Given the description of an element on the screen output the (x, y) to click on. 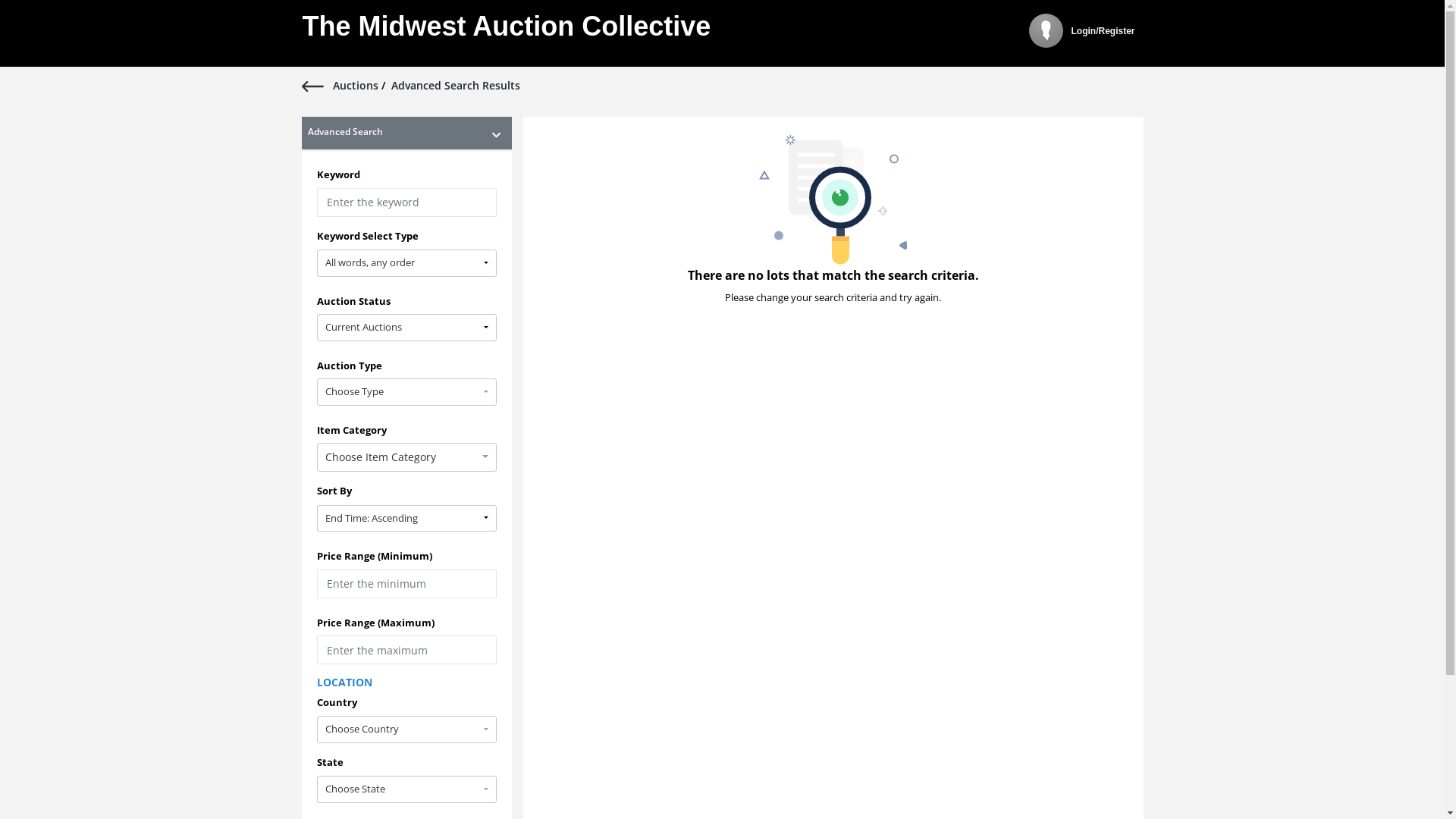
Auctions Element type: text (356, 85)
Current Auctions Element type: text (406, 327)
Choose Item Category Element type: text (406, 456)
Go Back Element type: hover (316, 85)
Choose Country Element type: text (406, 729)
Choose Type Element type: text (406, 391)
The Midwest Auction Collective Element type: text (505, 33)
Choose State Element type: text (406, 789)
End Time: Ascending Element type: text (406, 518)
Login/Register Element type: text (1102, 35)
All words, any order Element type: text (406, 262)
